Given the description of an element on the screen output the (x, y) to click on. 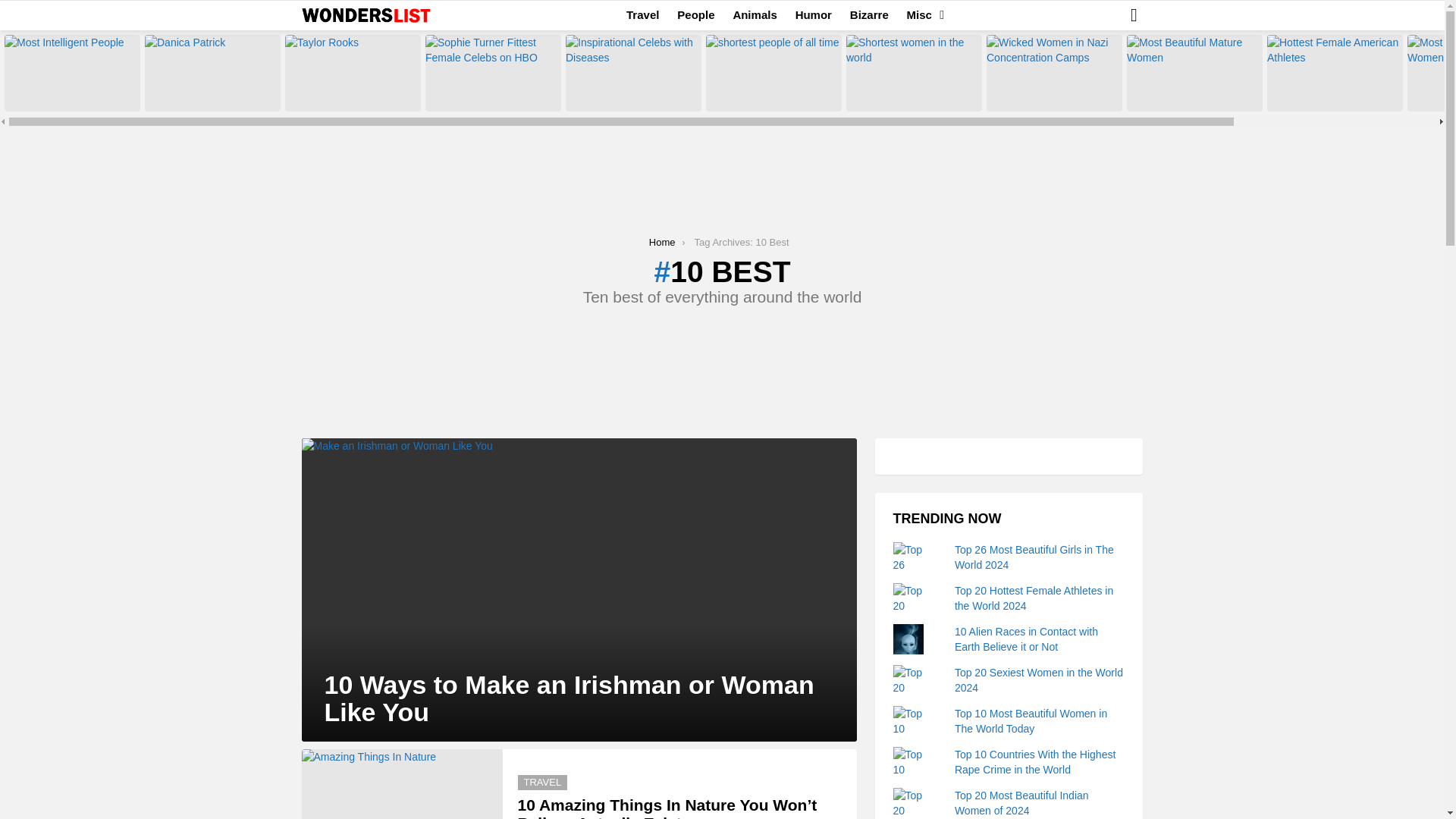
Humor (813, 15)
Misc (921, 15)
10 Hottest Female American Athletes of All Time (1334, 73)
Top 10 shortest women in the world (913, 73)
10 Most Stylish Female Athletes of All Time (212, 73)
People (695, 15)
Top 15 Most Intelligent People in The World (71, 73)
Animals (754, 15)
Top 10 Hottest Female Sportscasters (352, 73)
